Given the description of an element on the screen output the (x, y) to click on. 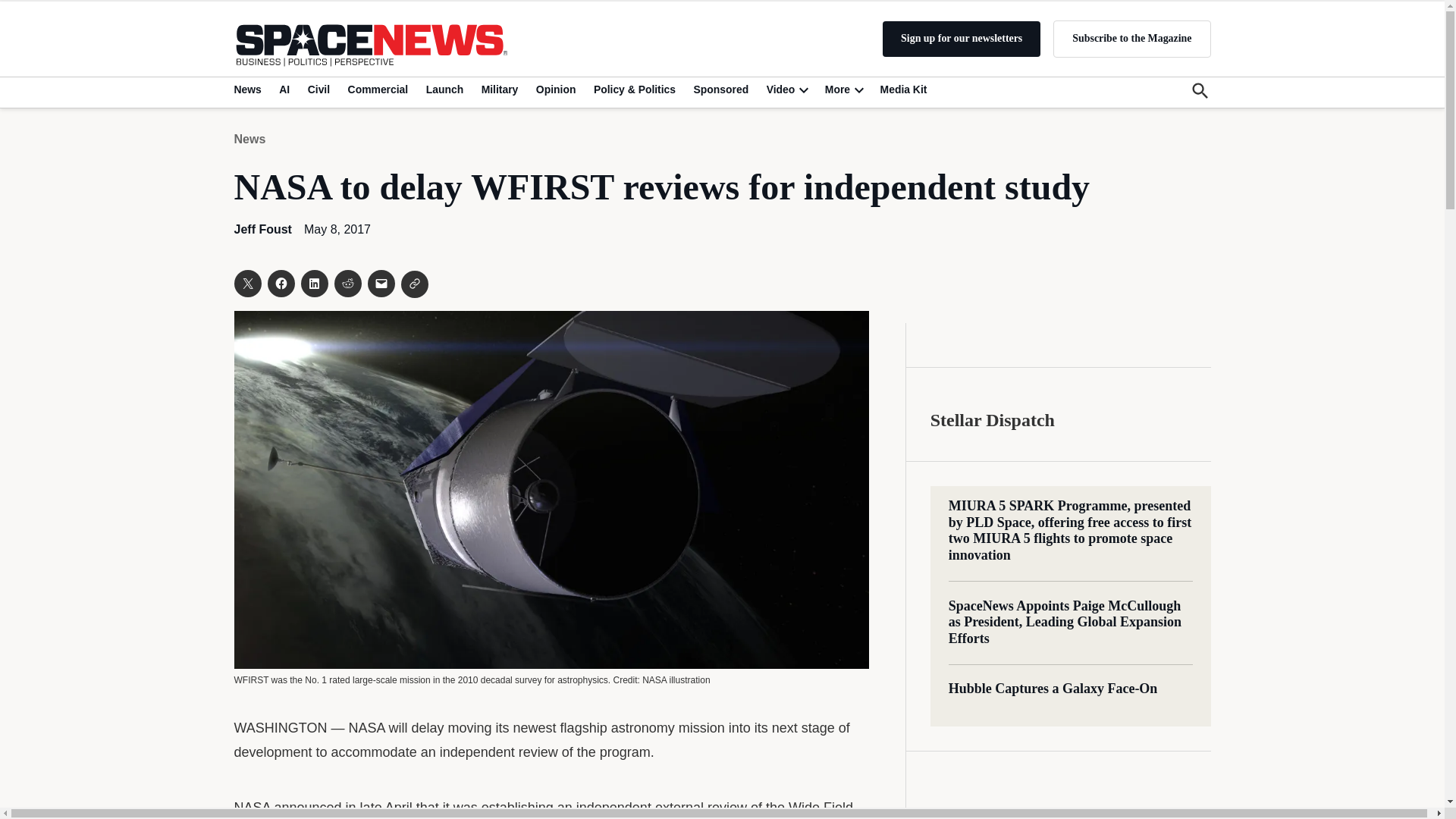
Civil (318, 89)
Click to share on LinkedIn (313, 283)
AI (284, 89)
Subscribe to the Magazine (1130, 38)
Sign up for our newsletters (961, 38)
Click to share on Facebook (280, 283)
Click to share on X (246, 283)
Click to share on Clipboard (414, 284)
Click to email a link to a friend (380, 283)
Click to share on Reddit (347, 283)
News (249, 89)
